Given the description of an element on the screen output the (x, y) to click on. 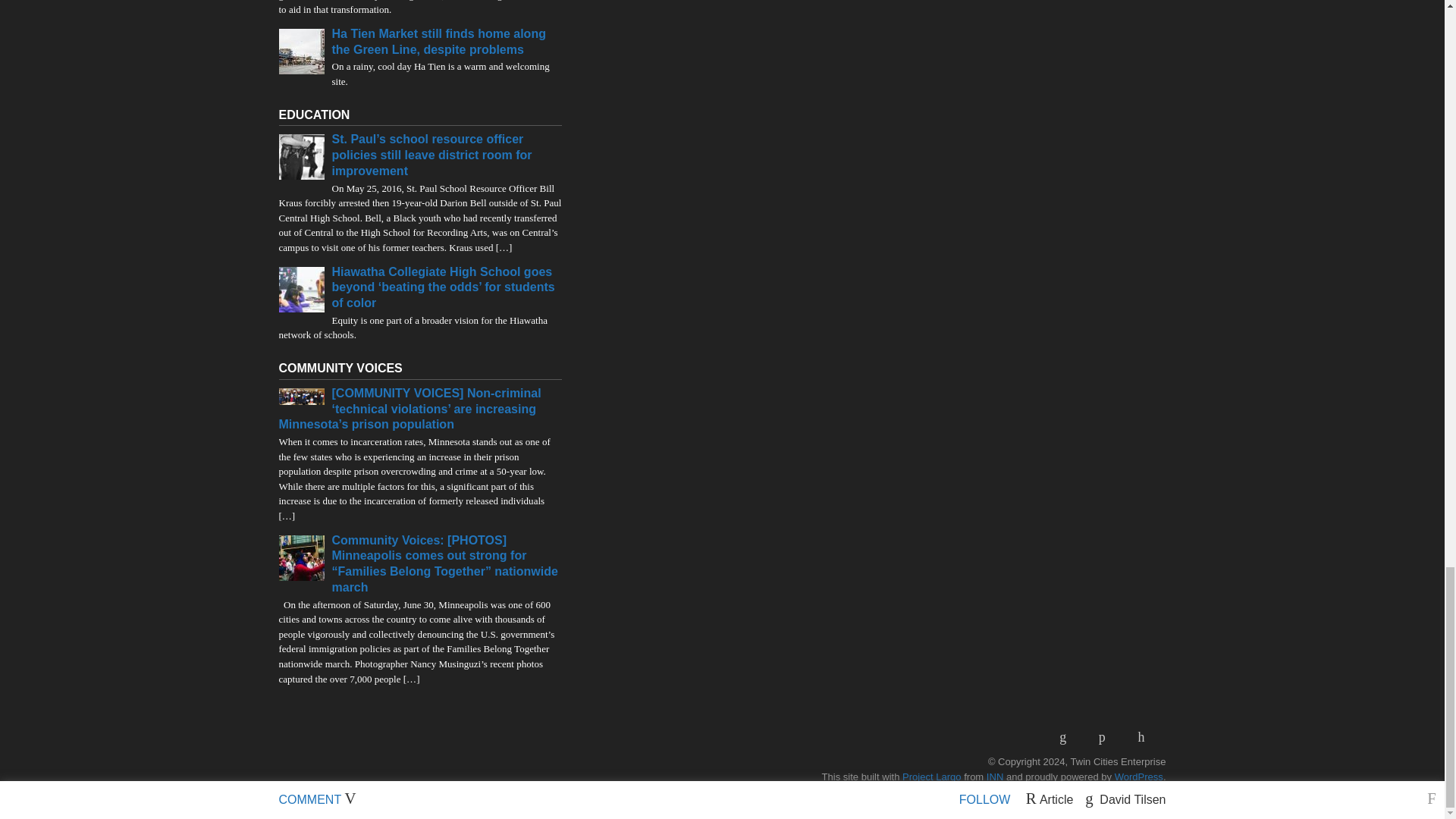
Link to Facebook Profile (1106, 736)
Link to RSS Feed (1067, 736)
Link to Twitter Page (1146, 736)
